Given the description of an element on the screen output the (x, y) to click on. 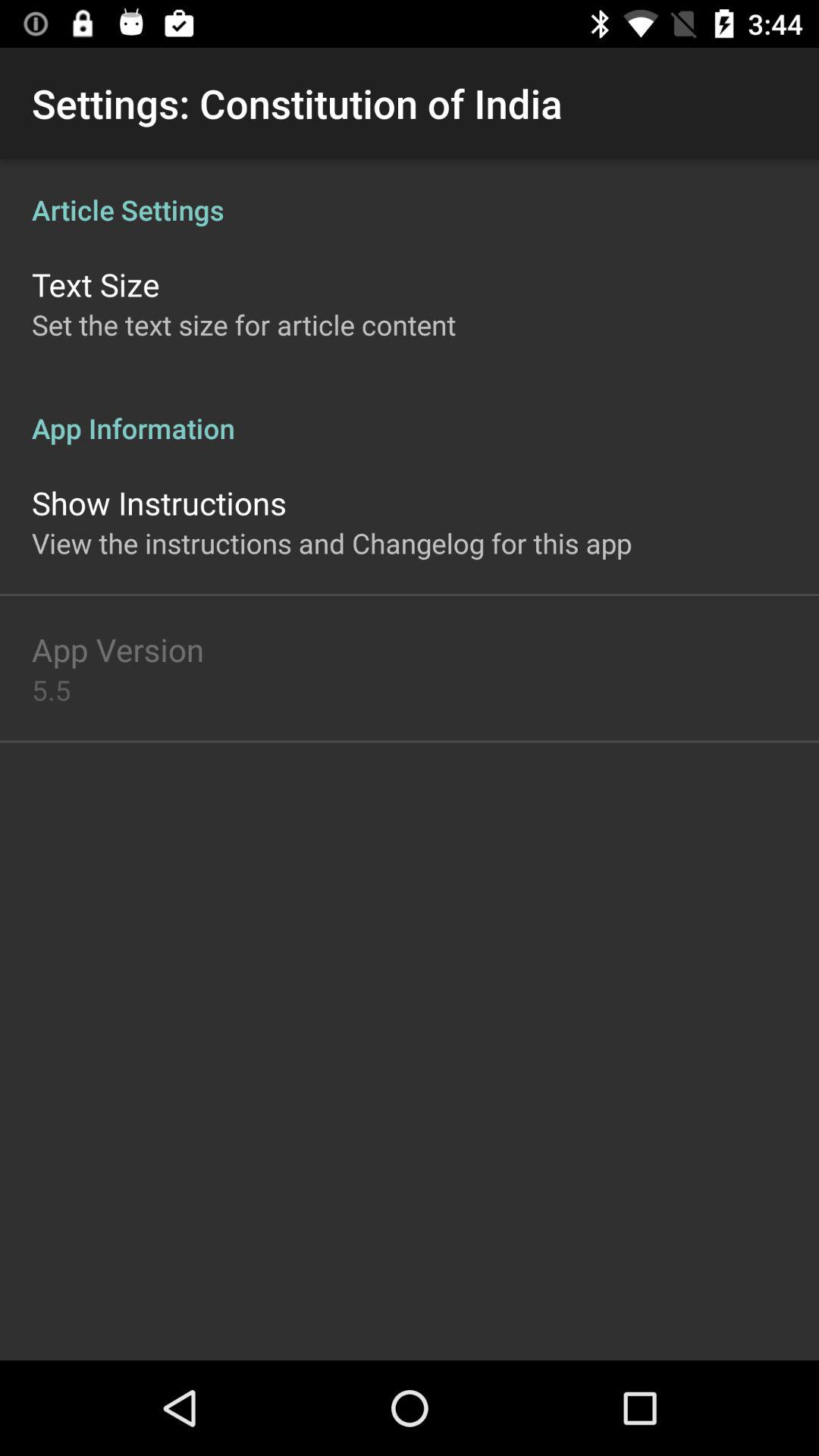
turn on app at the center (331, 542)
